Given the description of an element on the screen output the (x, y) to click on. 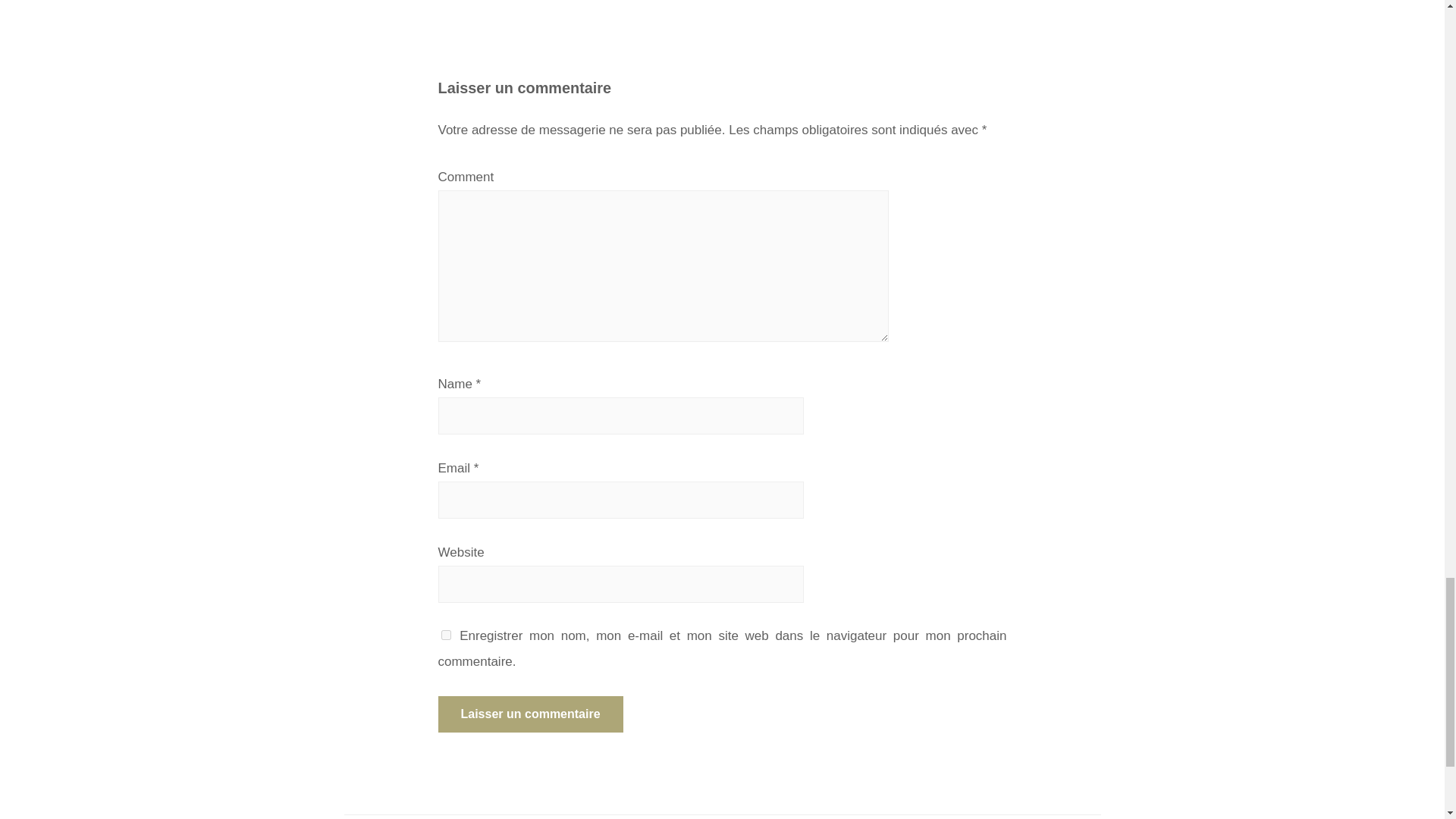
Laisser un commentaire (530, 714)
Laisser un commentaire (530, 714)
yes (446, 634)
